Given the description of an element on the screen output the (x, y) to click on. 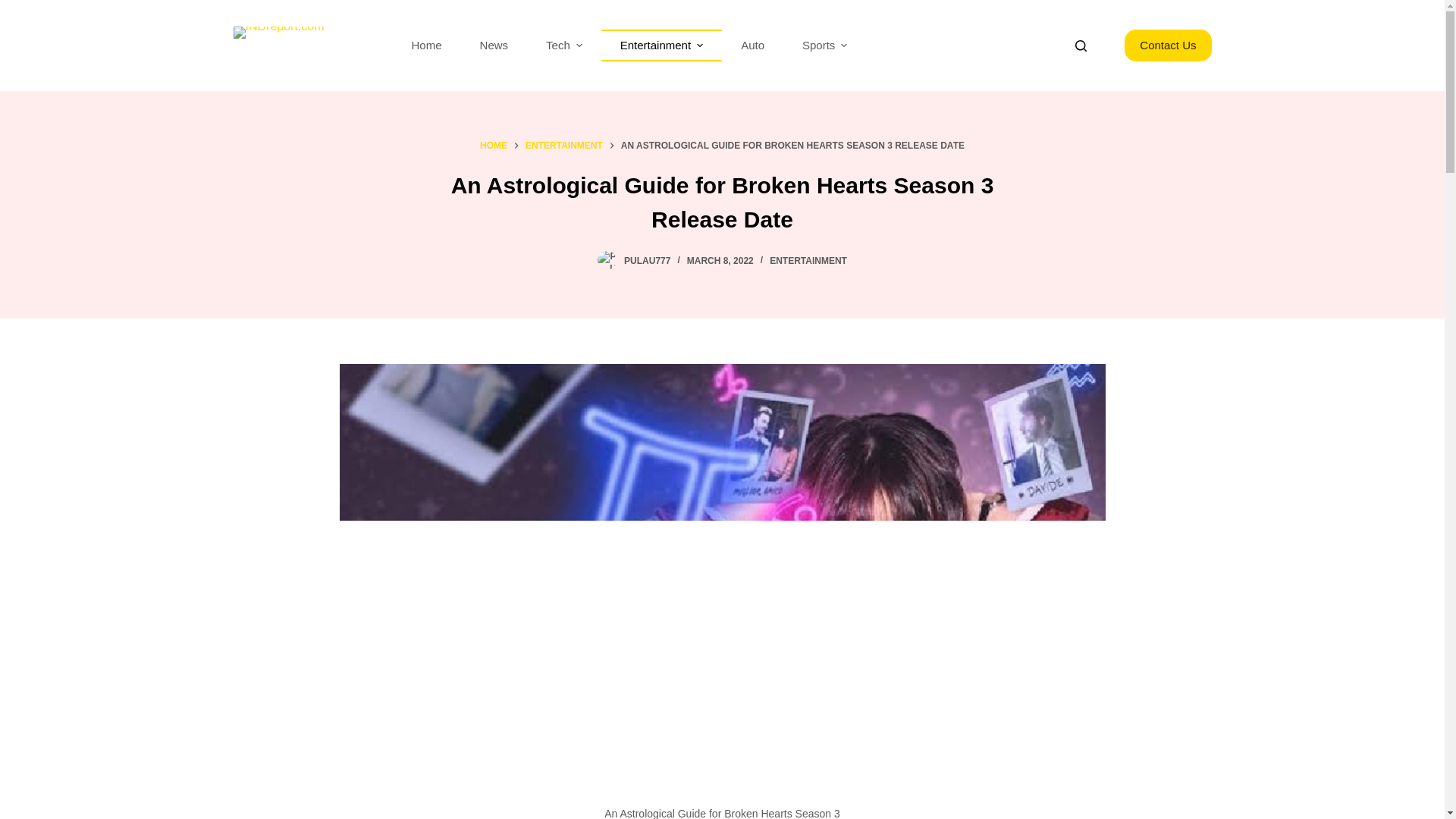
Home (427, 45)
Entertainment (661, 45)
Tech (564, 45)
Posts by Pulau777 (646, 260)
Skip to content (15, 7)
News (494, 45)
Contact Us (1167, 45)
Auto (752, 45)
Sports (824, 45)
